Given the description of an element on the screen output the (x, y) to click on. 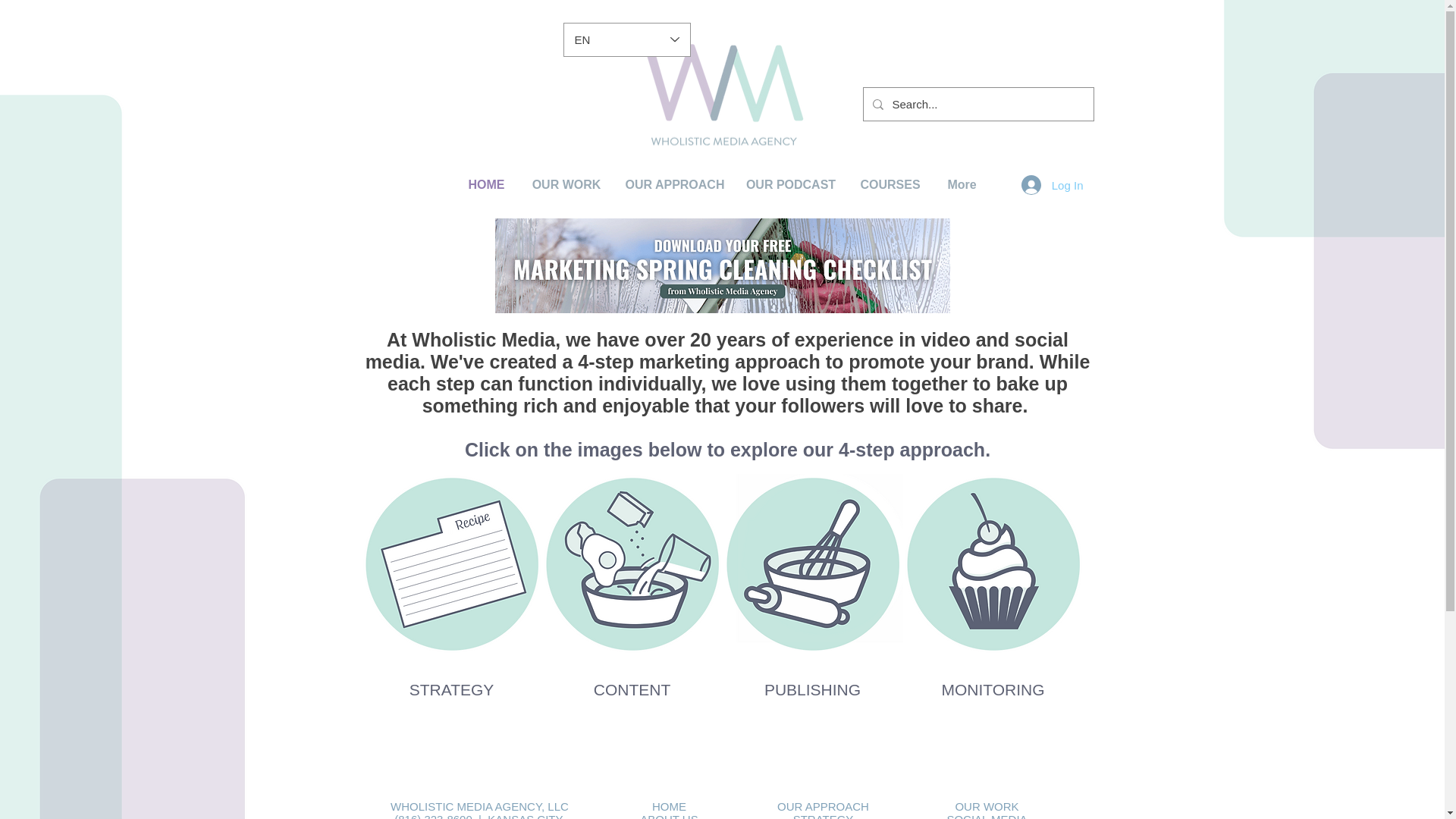
HOME (485, 183)
OUR APPROACH (674, 183)
OUR APPROACH (823, 806)
STRATEGY (823, 816)
OUR PODCAST (790, 183)
COURSES (890, 183)
HOME (668, 806)
Log In (1052, 184)
OUR WORK (565, 183)
